Given the description of an element on the screen output the (x, y) to click on. 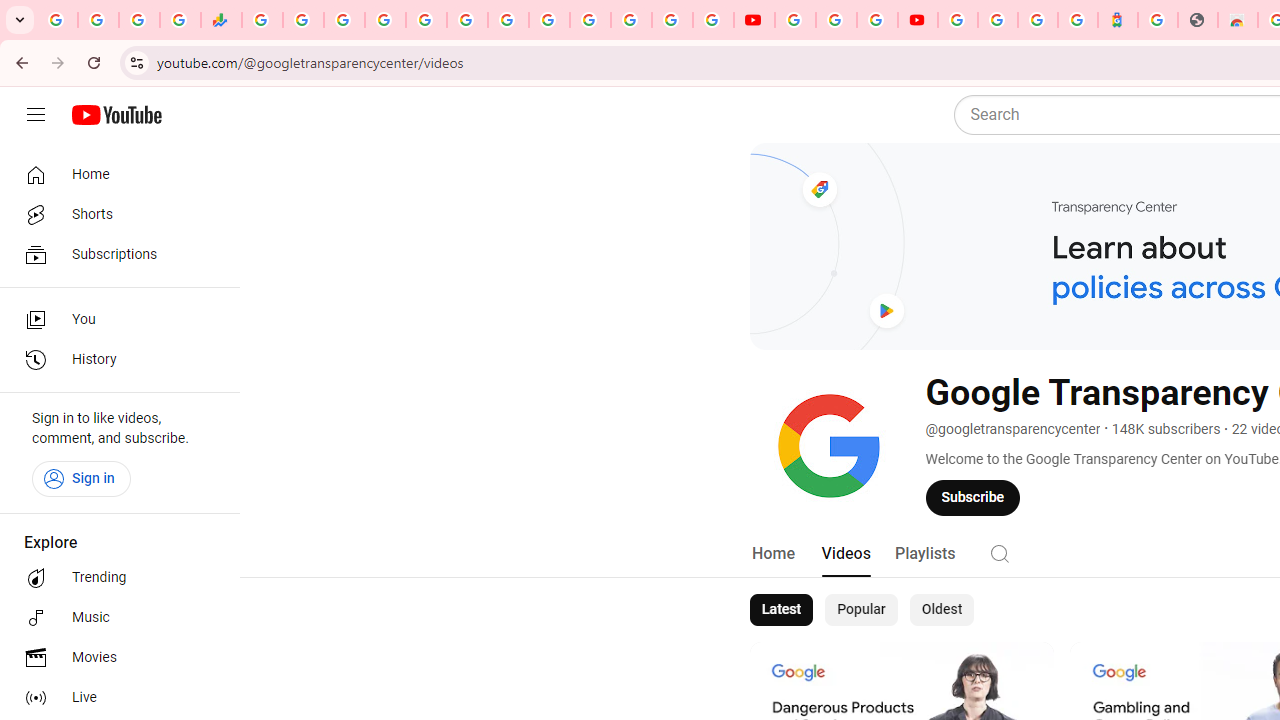
Music (113, 617)
Sign in - Google Accounts (384, 20)
Sign in - Google Accounts (671, 20)
Create your Google Account (877, 20)
Sign in - Google Accounts (957, 20)
Guide (35, 115)
Trending (113, 578)
Videos (845, 553)
Shorts (113, 214)
Search (999, 552)
Movies (113, 657)
